Given the description of an element on the screen output the (x, y) to click on. 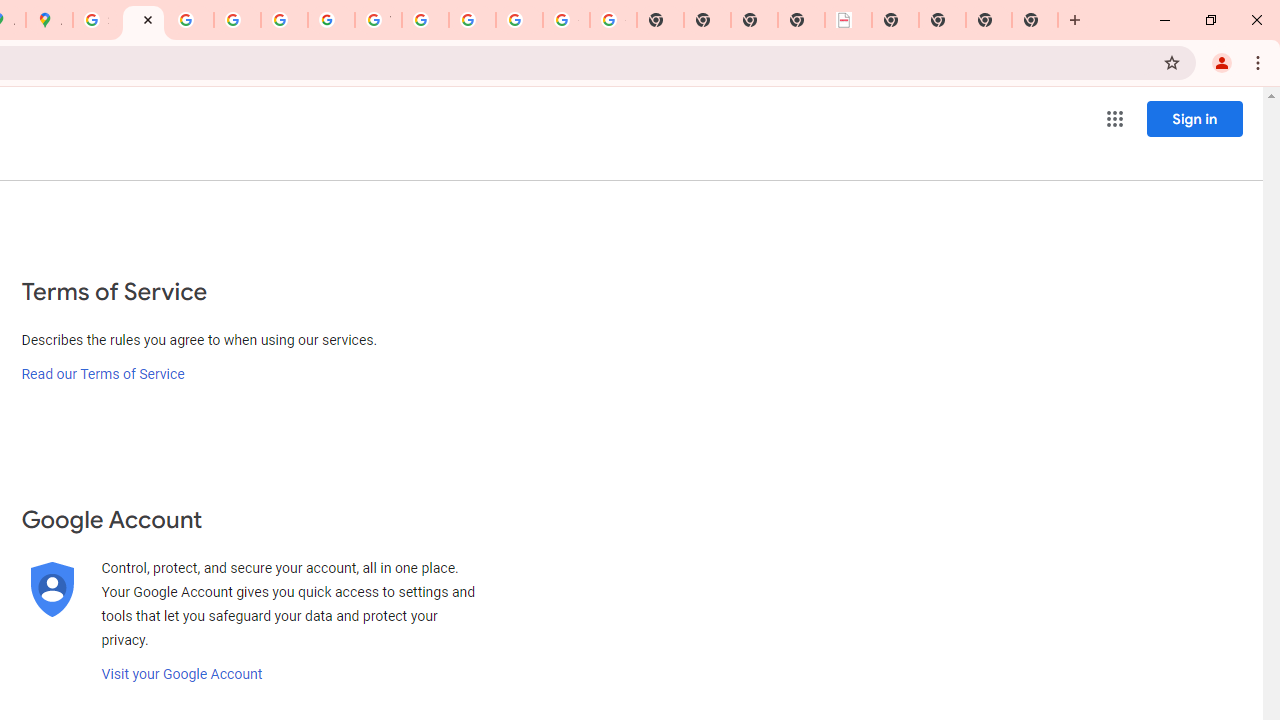
Privacy Help Center - Policies Help (237, 20)
New Tab (989, 20)
New Tab (1035, 20)
YouTube (377, 20)
